Given the description of an element on the screen output the (x, y) to click on. 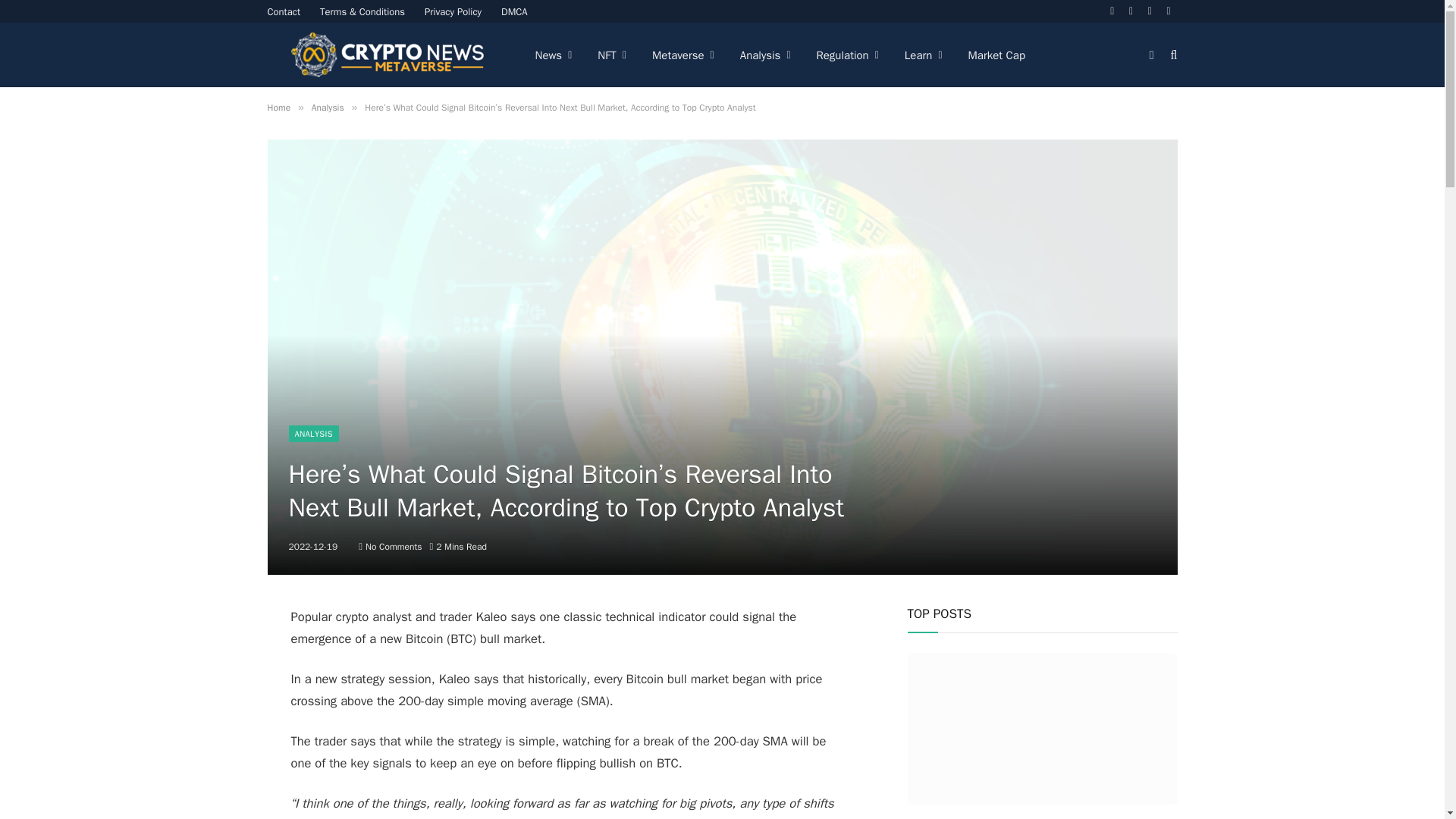
Contact (284, 11)
DMCA (514, 11)
News (553, 54)
CryptoNewsMetaverse (388, 54)
Privacy Policy (453, 11)
